Given the description of an element on the screen output the (x, y) to click on. 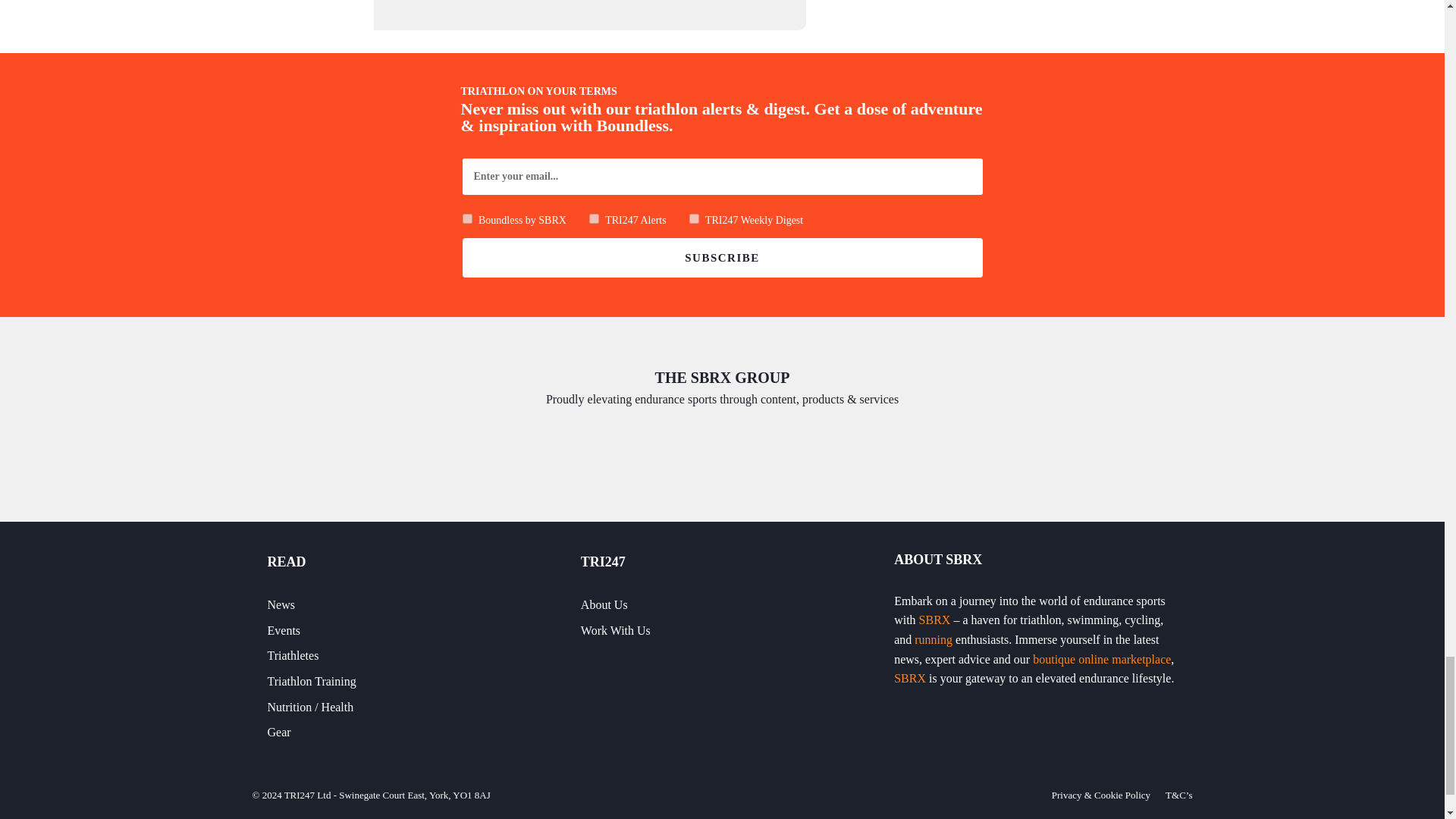
112249833813705994 (467, 218)
112248674326676726 (593, 218)
112249846371452479 (693, 218)
Subscribe (722, 258)
